Given the description of an element on the screen output the (x, y) to click on. 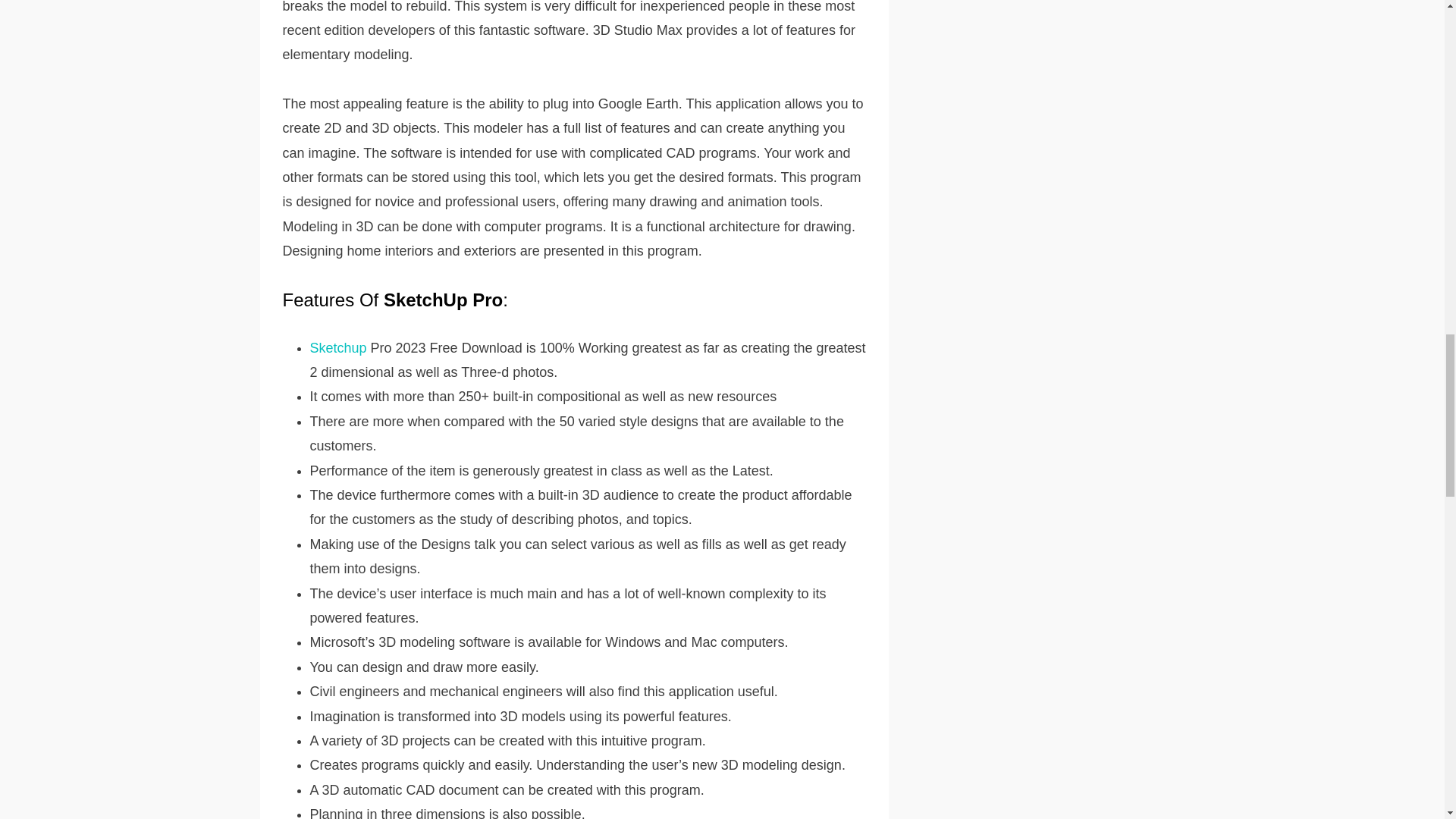
Sketchup (337, 347)
